Given the description of an element on the screen output the (x, y) to click on. 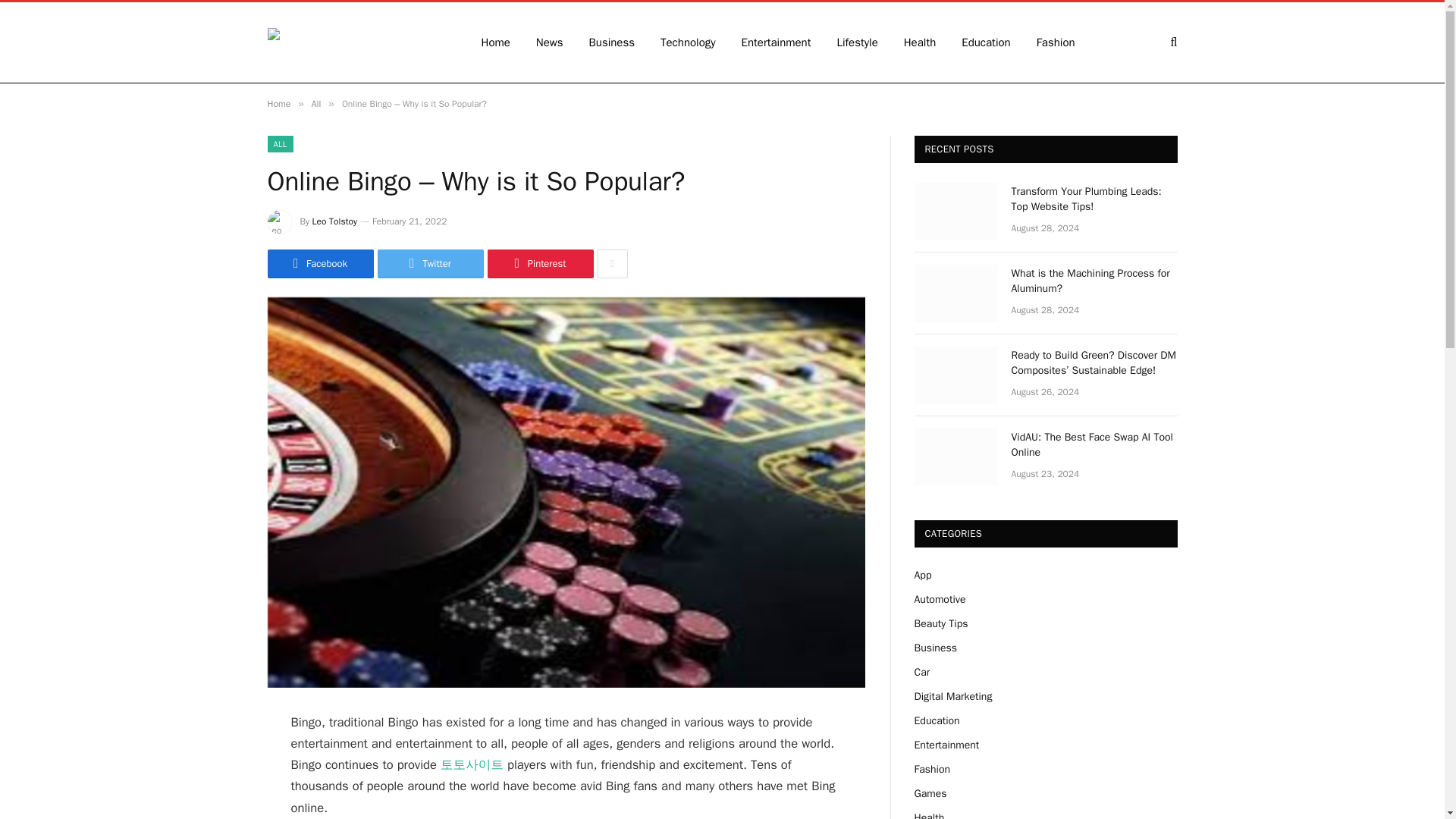
Leo Tolstoy (334, 221)
Show More Social Sharing (611, 263)
Posts by Leo Tolstoy (334, 221)
Facebook (319, 263)
Technology (688, 42)
Home (277, 103)
Twitter (430, 263)
Education (986, 42)
Pinterest (539, 263)
Ifuntv.co (353, 42)
